Given the description of an element on the screen output the (x, y) to click on. 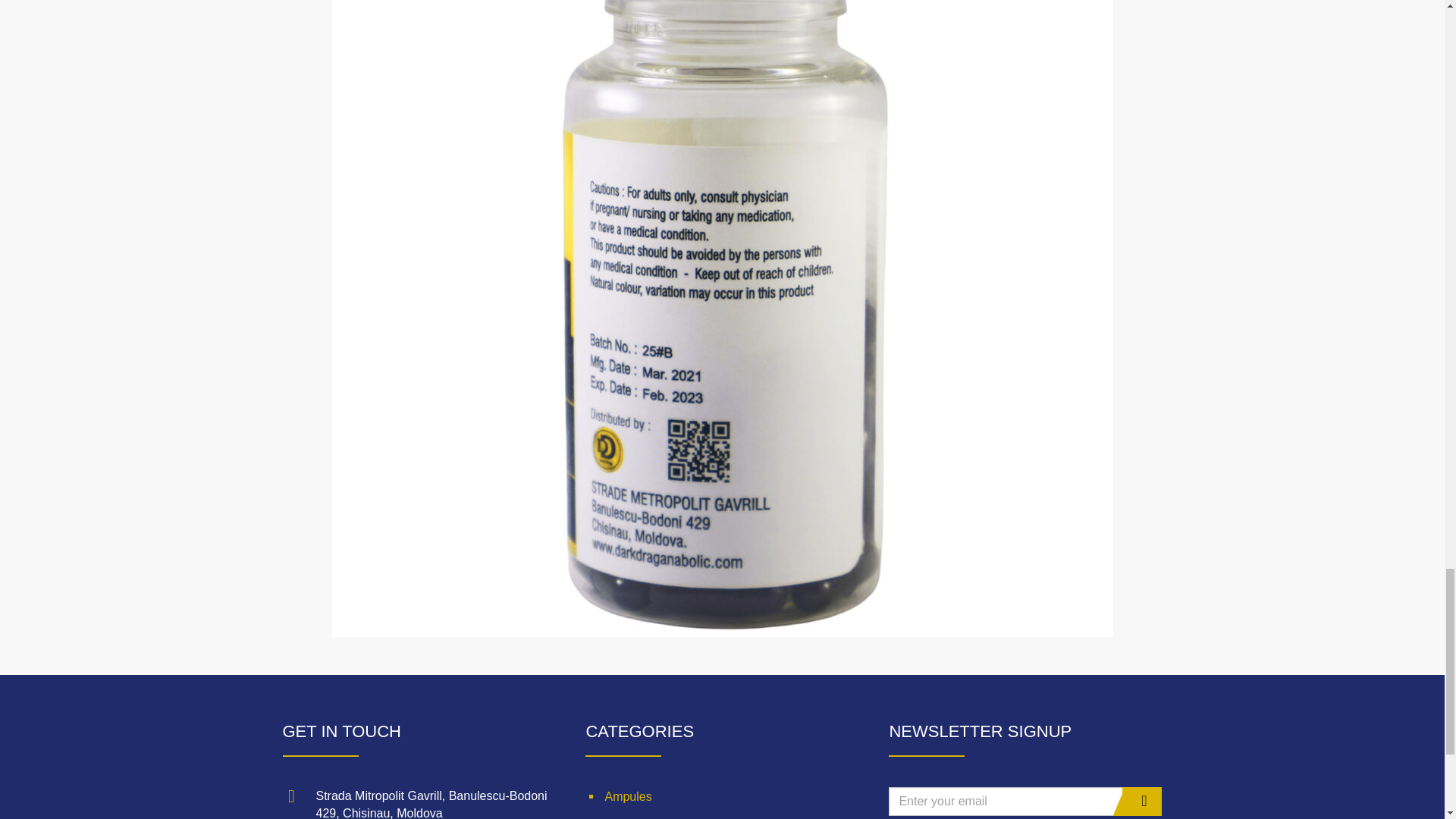
S (1141, 801)
Ampules (721, 795)
Dark Drag Tablets (721, 816)
